Given the description of an element on the screen output the (x, y) to click on. 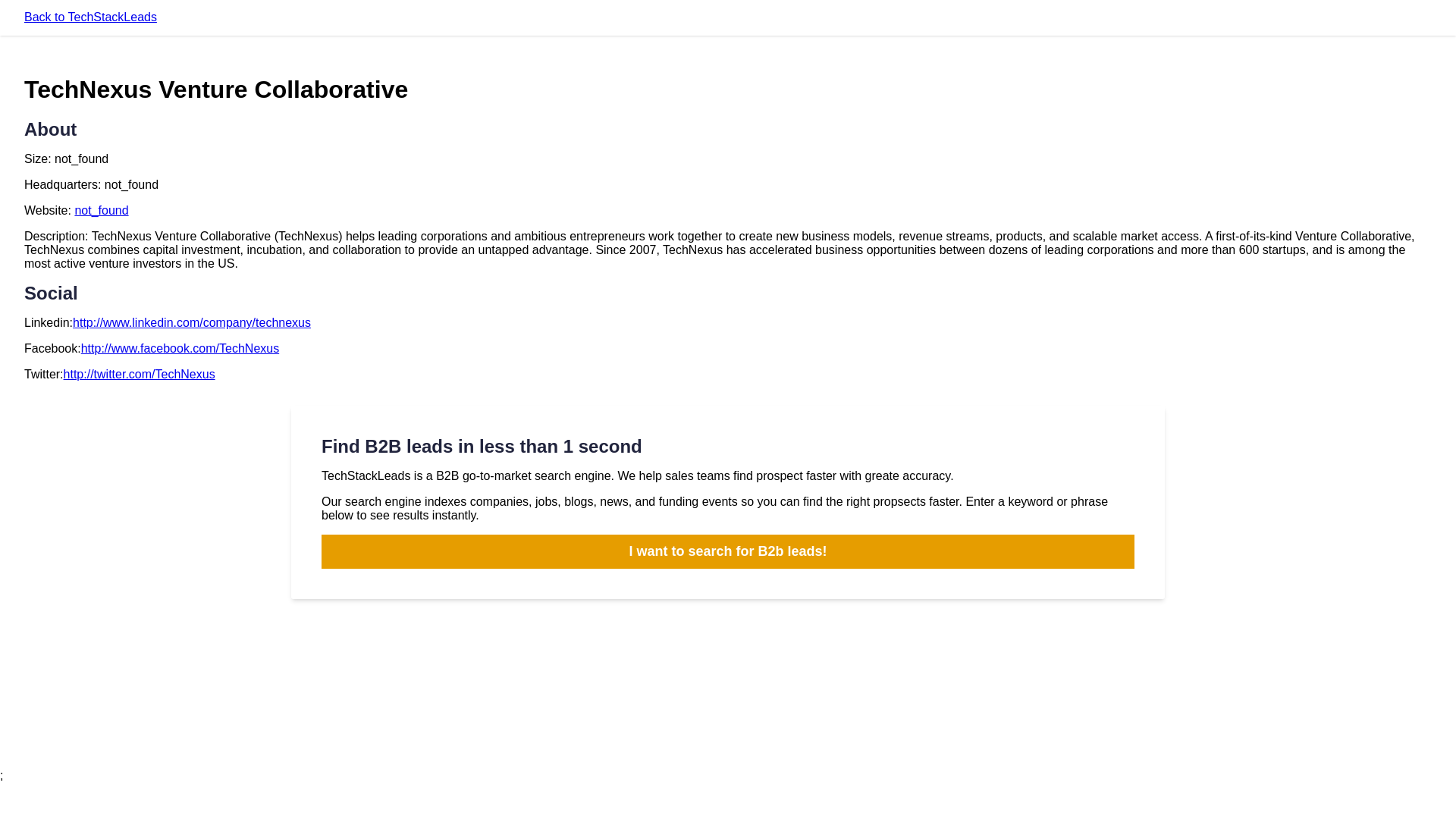
Back to TechStackLeads (90, 16)
I want to search for B2b leads! (727, 551)
I want to search for B2b leads! (727, 551)
